Given the description of an element on the screen output the (x, y) to click on. 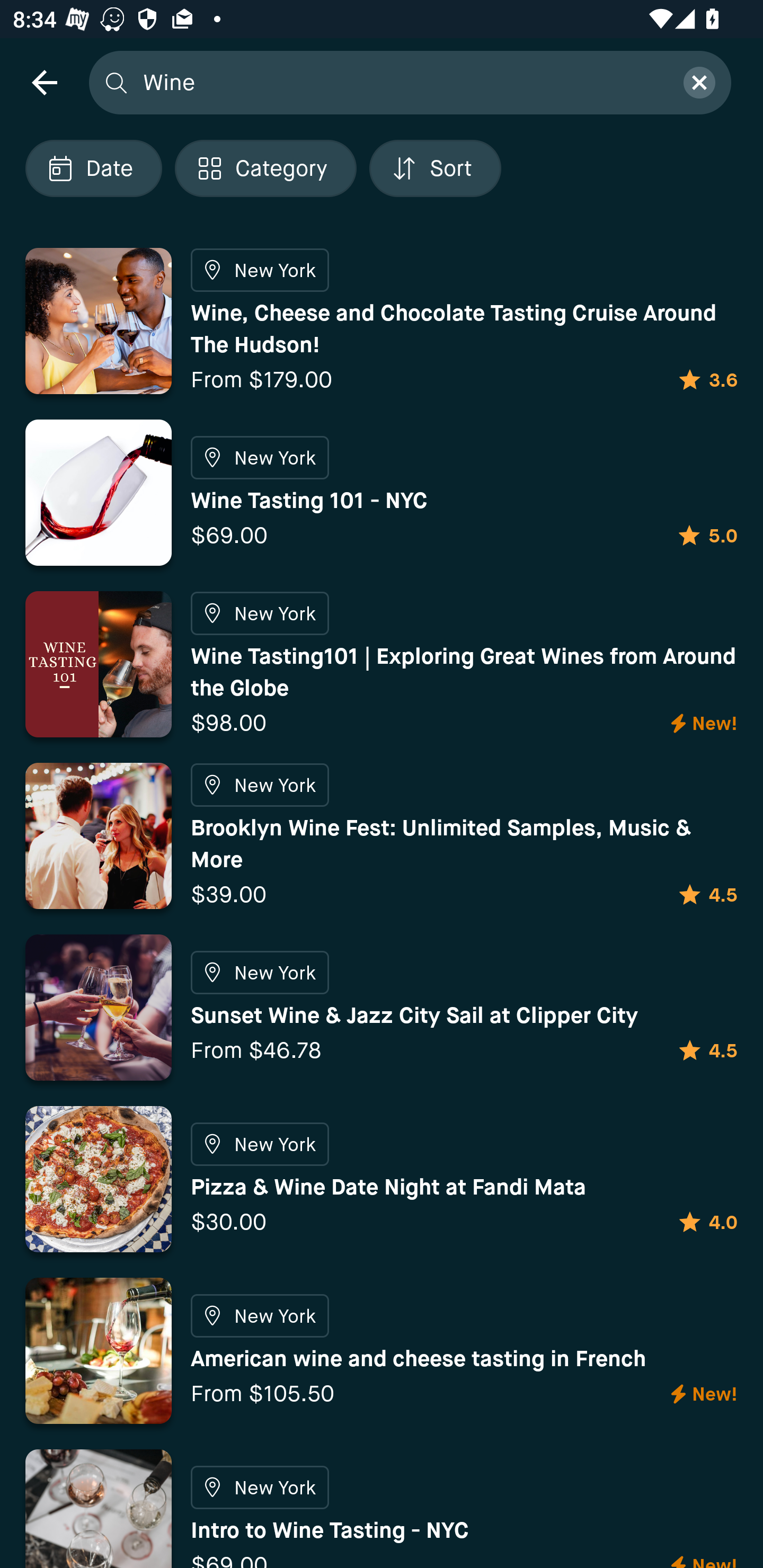
navigation icon (44, 81)
Wine (402, 81)
Localized description Date (93, 168)
Localized description Category (265, 168)
Localized description Sort (435, 168)
